Given the description of an element on the screen output the (x, y) to click on. 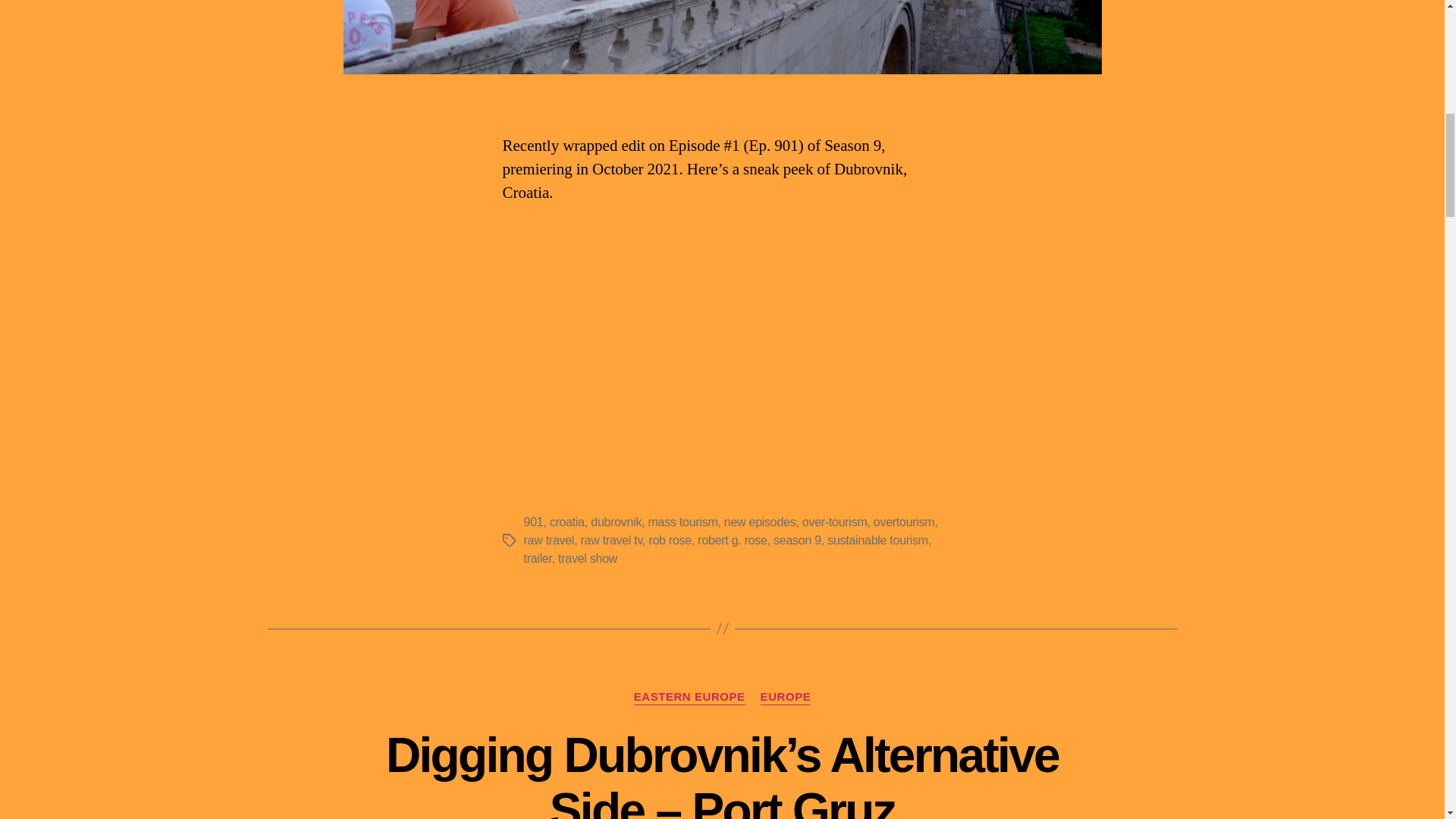
raw travel tv (611, 540)
EUROPE (785, 697)
sustainable tourism (877, 540)
travel show (587, 558)
trailer (536, 558)
mass tourism (682, 521)
overtourism (903, 521)
raw travel (547, 540)
901 (532, 521)
EASTERN EUROPE (689, 697)
dubrovnik (616, 521)
season 9 (797, 540)
robert g. rose (732, 540)
croatia (567, 521)
901 Trailer - Dubrovnik, Croatia (722, 359)
